Given the description of an element on the screen output the (x, y) to click on. 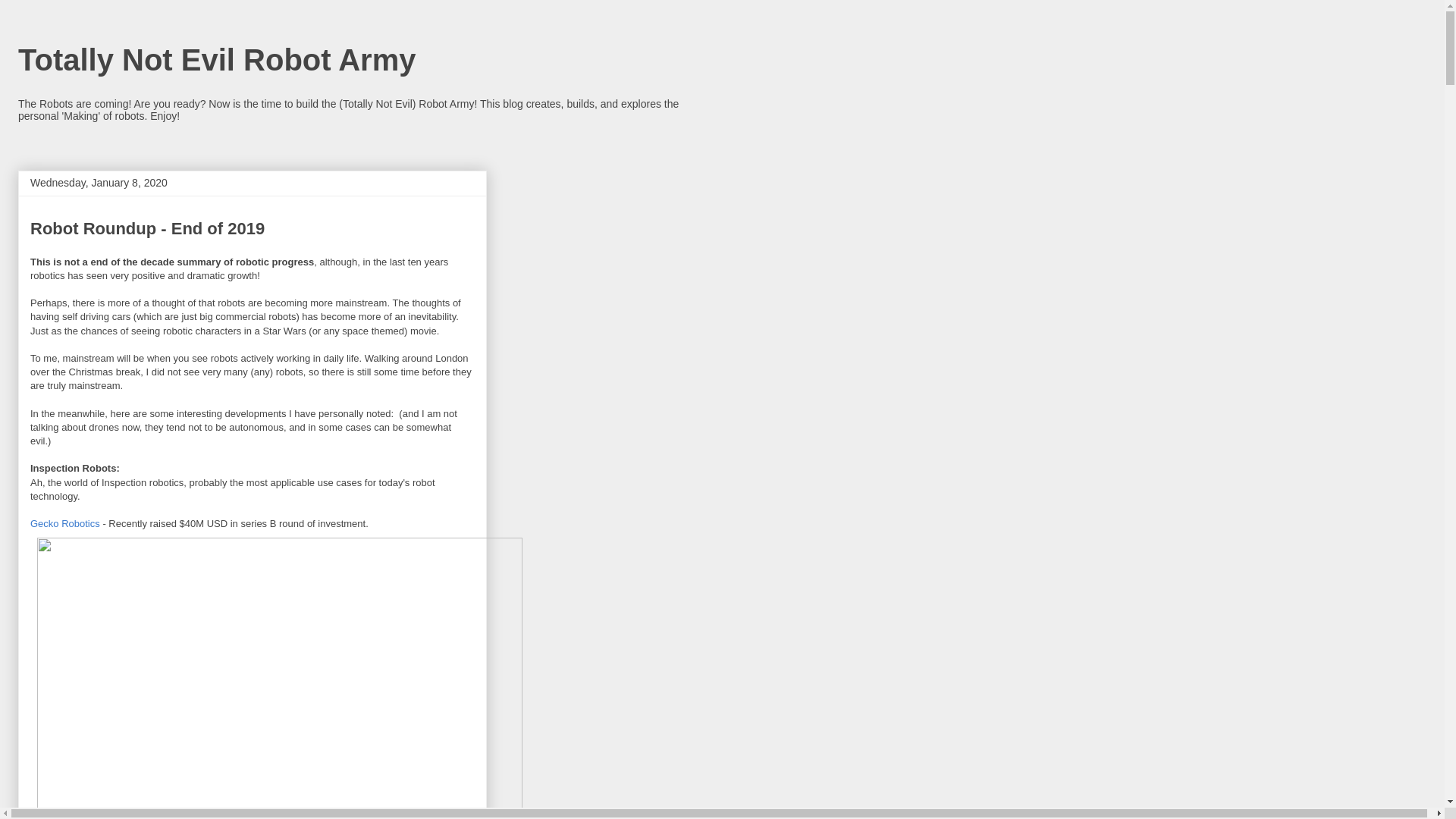
Totally Not Evil Robot Army (215, 59)
Gecko Robotics (65, 523)
